Given the description of an element on the screen output the (x, y) to click on. 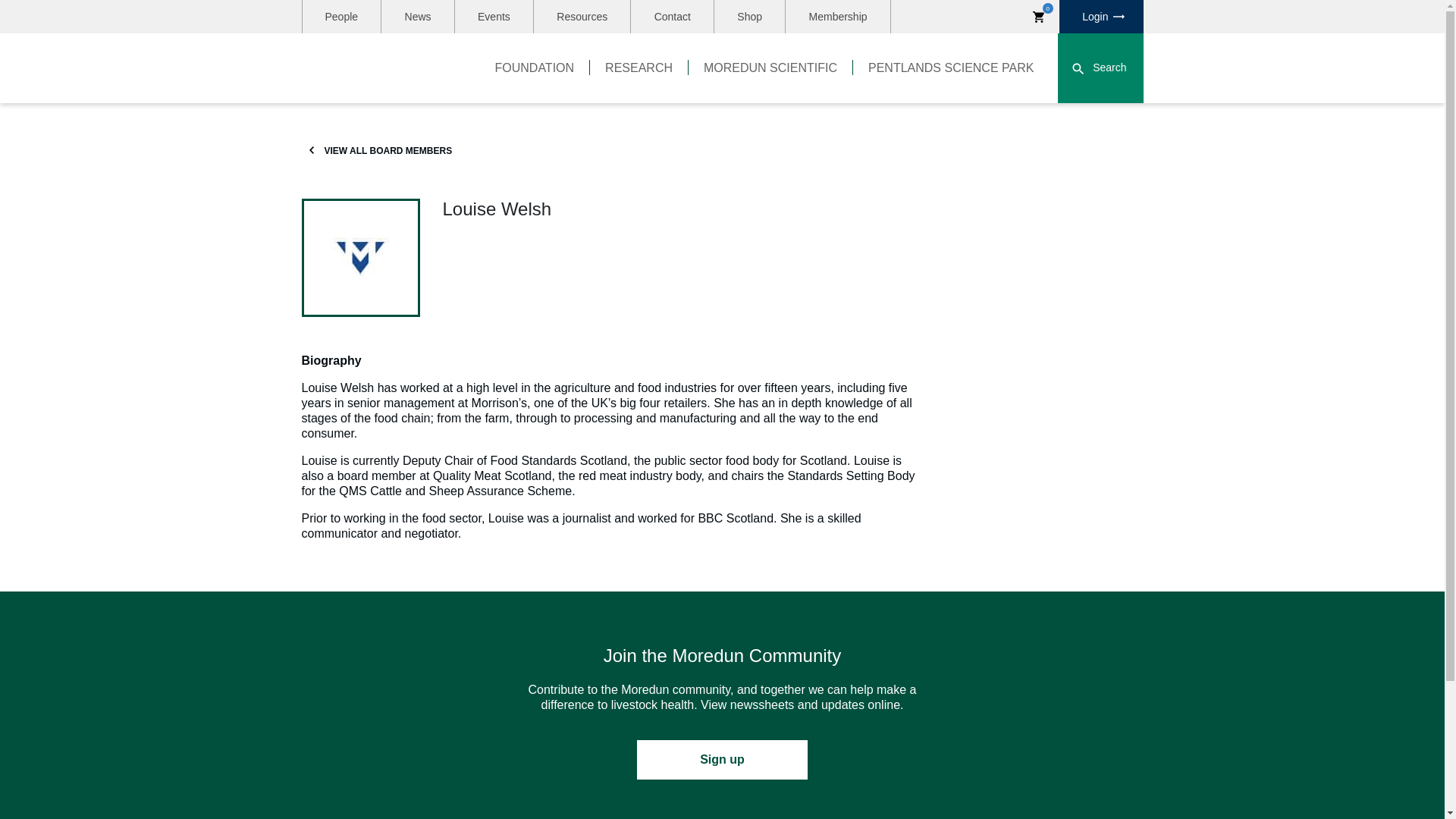
MOREDUN SCIENTIFIC (770, 68)
People (340, 16)
  0 (1038, 16)
RESEARCH (638, 68)
Go back to the home page (379, 68)
Resources (582, 16)
News (417, 16)
FOUNDATION (535, 68)
Contact (672, 16)
Events (493, 16)
Login (1100, 16)
Membership (837, 16)
Shop (749, 16)
